Given the description of an element on the screen output the (x, y) to click on. 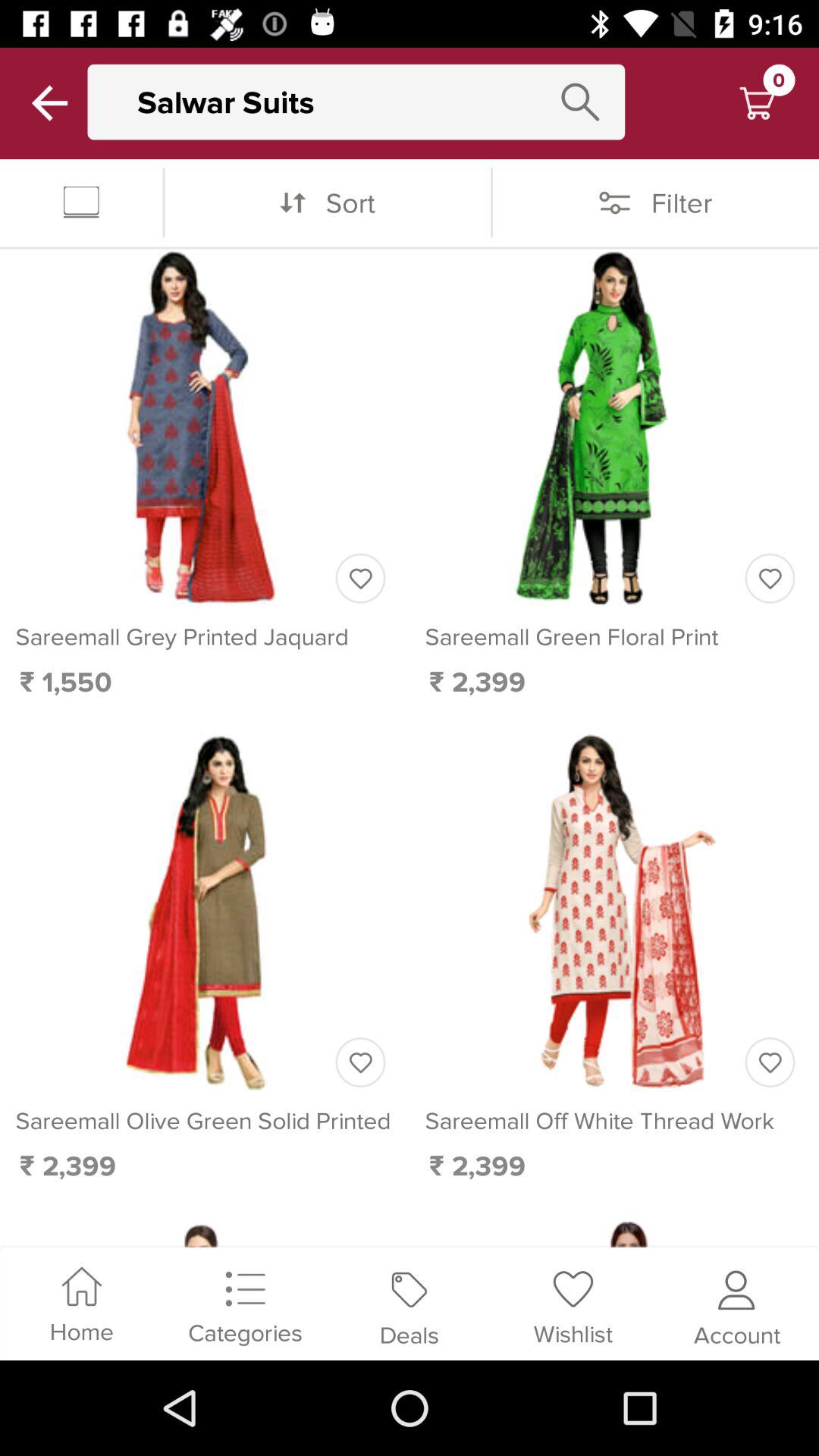
click salwar suits (371, 101)
